Given the description of an element on the screen output the (x, y) to click on. 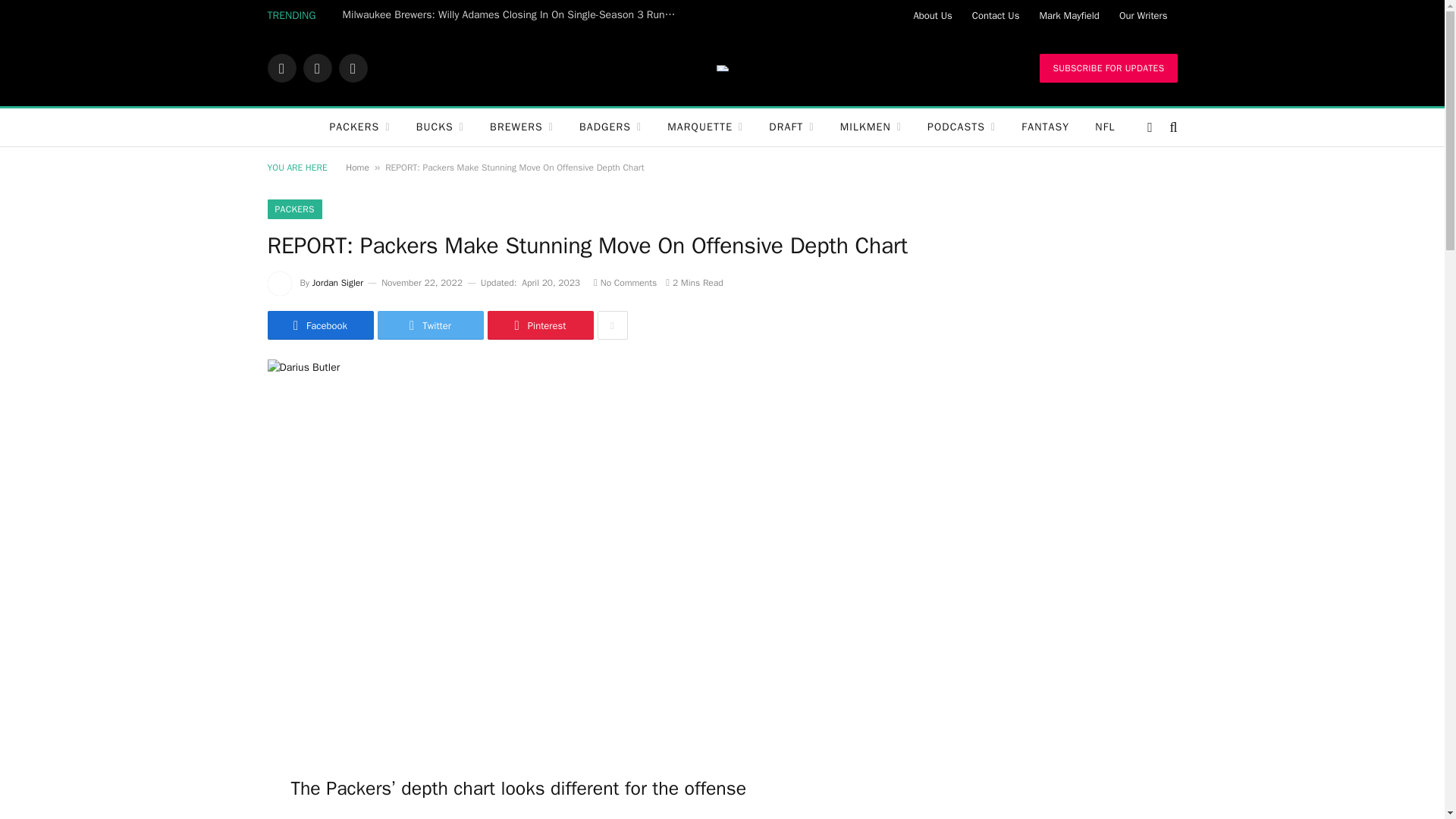
Facebook (280, 68)
RSS (351, 68)
PACKERS (359, 127)
BUCKS (440, 127)
Contact Us (995, 15)
Mark Mayfield (1068, 15)
BREWERS (521, 127)
Switch to Dark Design - easier on eyes. (1149, 127)
Our Writers (1143, 15)
